Given the description of an element on the screen output the (x, y) to click on. 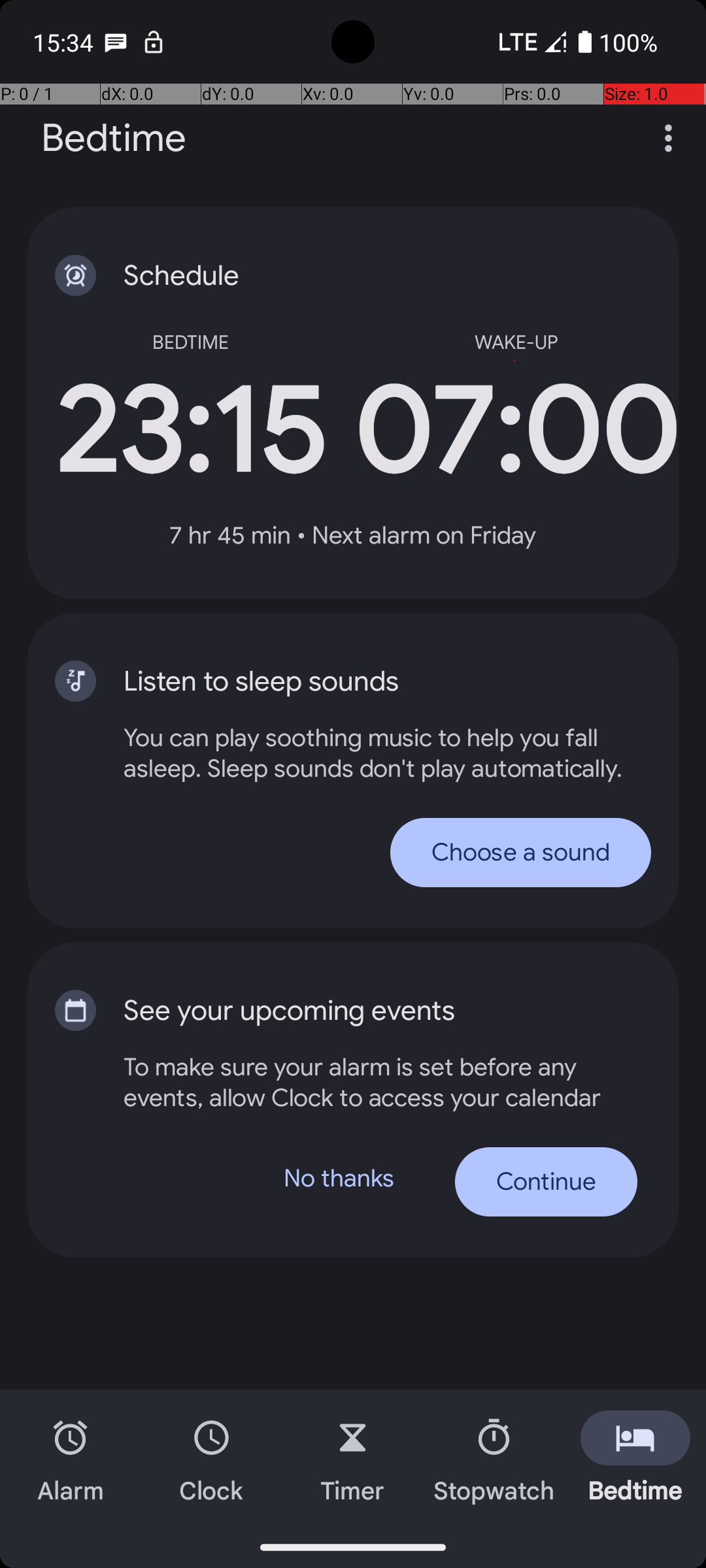
Schedule Element type: android.widget.TextView (359, 275)
23:15 Element type: android.widget.TextView (190, 430)
07:00 Element type: android.widget.TextView (515, 430)
7 hr 45 min • Next alarm on Friday Element type: android.widget.TextView (352, 535)
Listen to sleep sounds Element type: android.widget.TextView (359, 681)
You can play soothing music to help you fall asleep. Sleep sounds don't play automatically. Element type: android.widget.TextView (387, 753)
Choose a sound Element type: android.widget.Button (520, 852)
See your upcoming events Element type: android.widget.TextView (359, 1010)
To make sure your alarm is set before any events, allow Clock to access your calendar Element type: android.widget.TextView (380, 1082)
Continue Element type: android.widget.Button (545, 1181)
Tasks notification: Connection security Element type: android.widget.ImageView (153, 41)
